Given the description of an element on the screen output the (x, y) to click on. 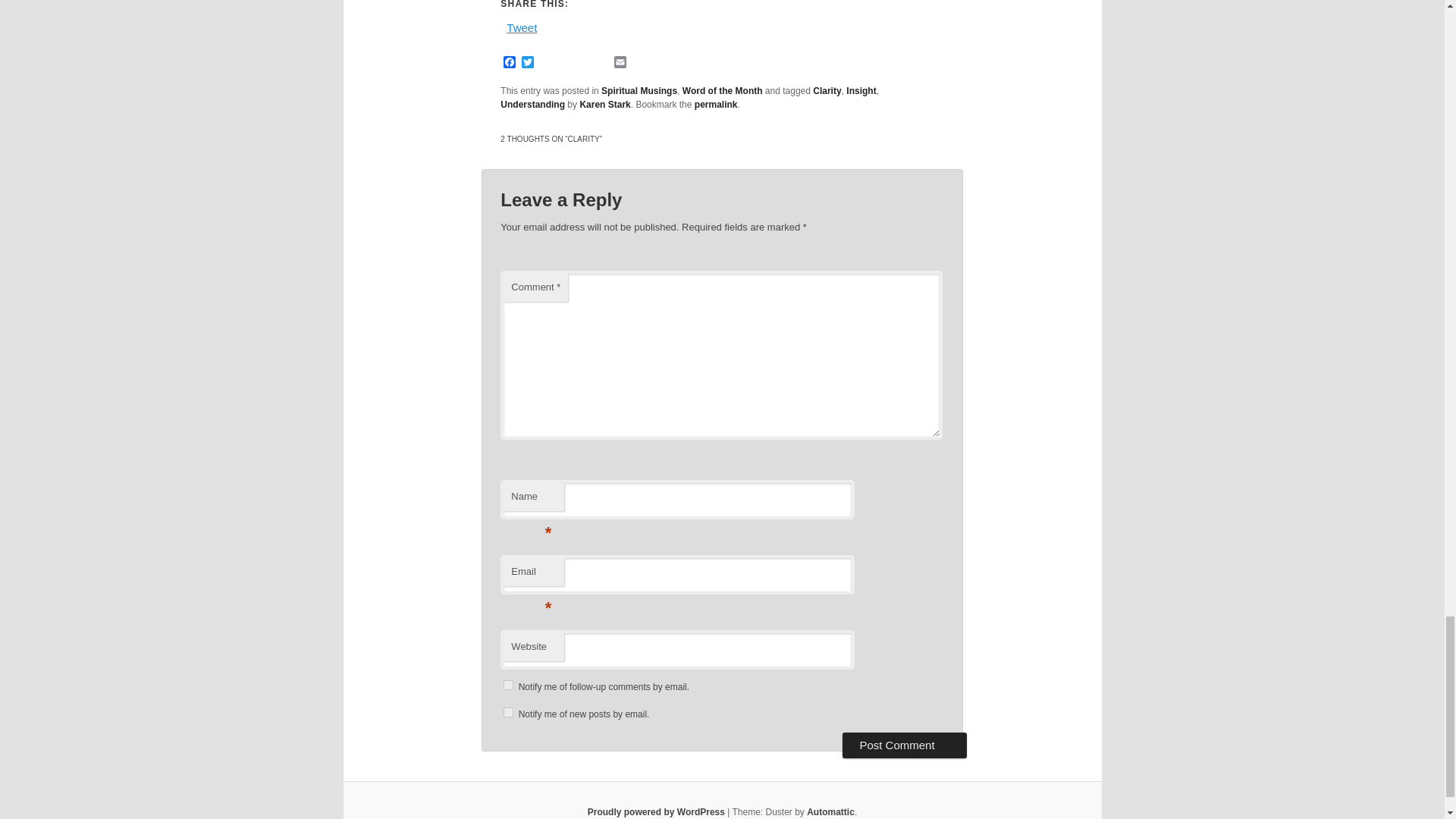
Email (619, 63)
Twitter (527, 63)
Post Comment (904, 745)
Word of the Month (722, 90)
Post Comment (904, 745)
Facebook (509, 63)
Spiritual Musings (639, 90)
Permalink to Clarity (716, 104)
subscribe (508, 712)
Tweet (521, 25)
